Given the description of an element on the screen output the (x, y) to click on. 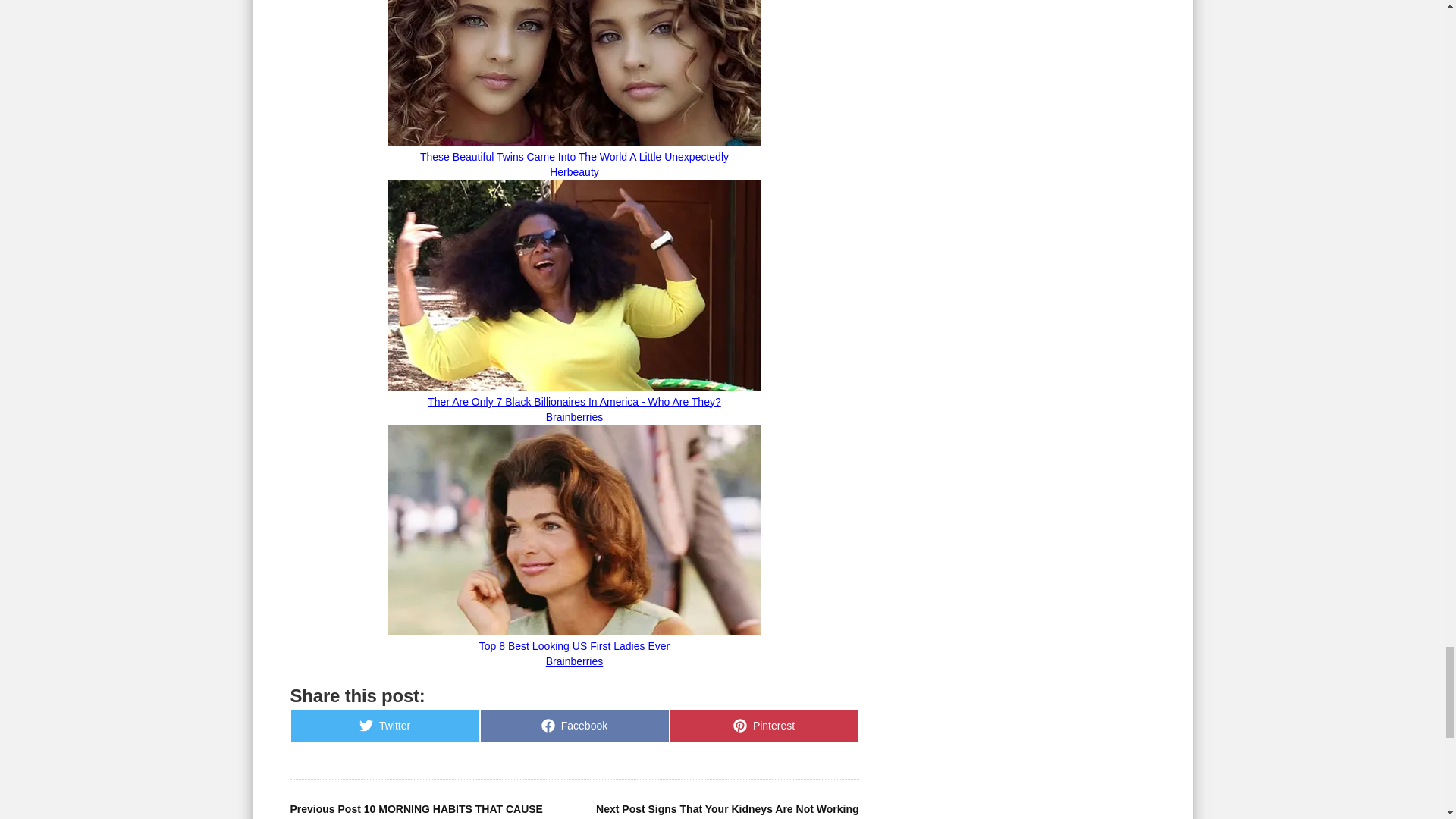
Next Post Signs That Your Kidneys Are Not Working Properly ! (573, 725)
Previous Post 10 MORNING HABITS THAT CAUSE WEIGHT GAIN (727, 811)
